Given the description of an element on the screen output the (x, y) to click on. 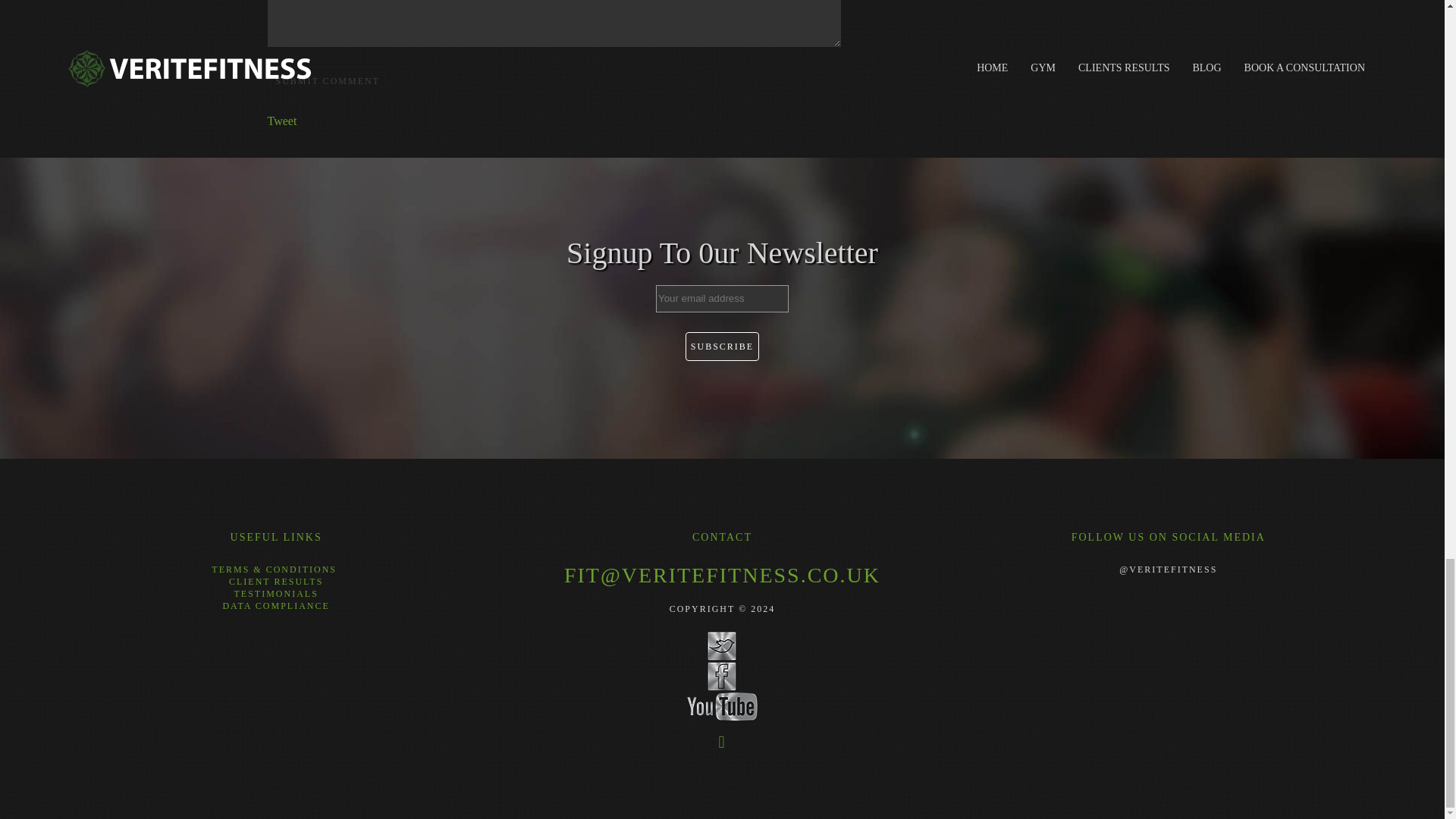
Subscribe (721, 346)
CLIENT RESULTS (275, 581)
Tweet (281, 120)
TESTIMONIALS (274, 593)
SUBMIT COMMENT (326, 80)
Subscribe (721, 346)
DATA COMPLIANCE (275, 605)
